Given the description of an element on the screen output the (x, y) to click on. 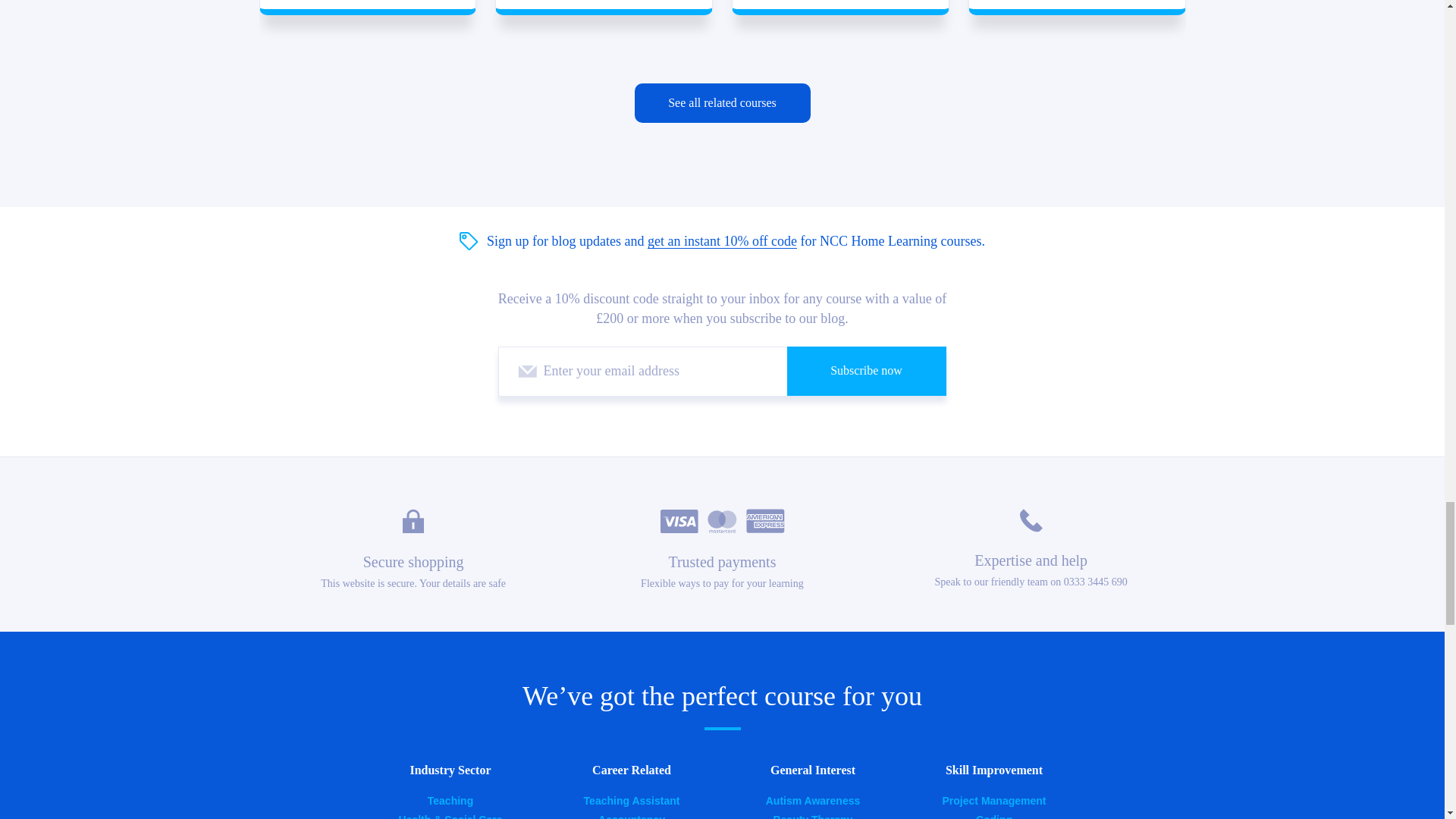
Subscribe now (866, 369)
Teaching (450, 800)
Industry Sector (449, 770)
See all related courses (721, 102)
